Given the description of an element on the screen output the (x, y) to click on. 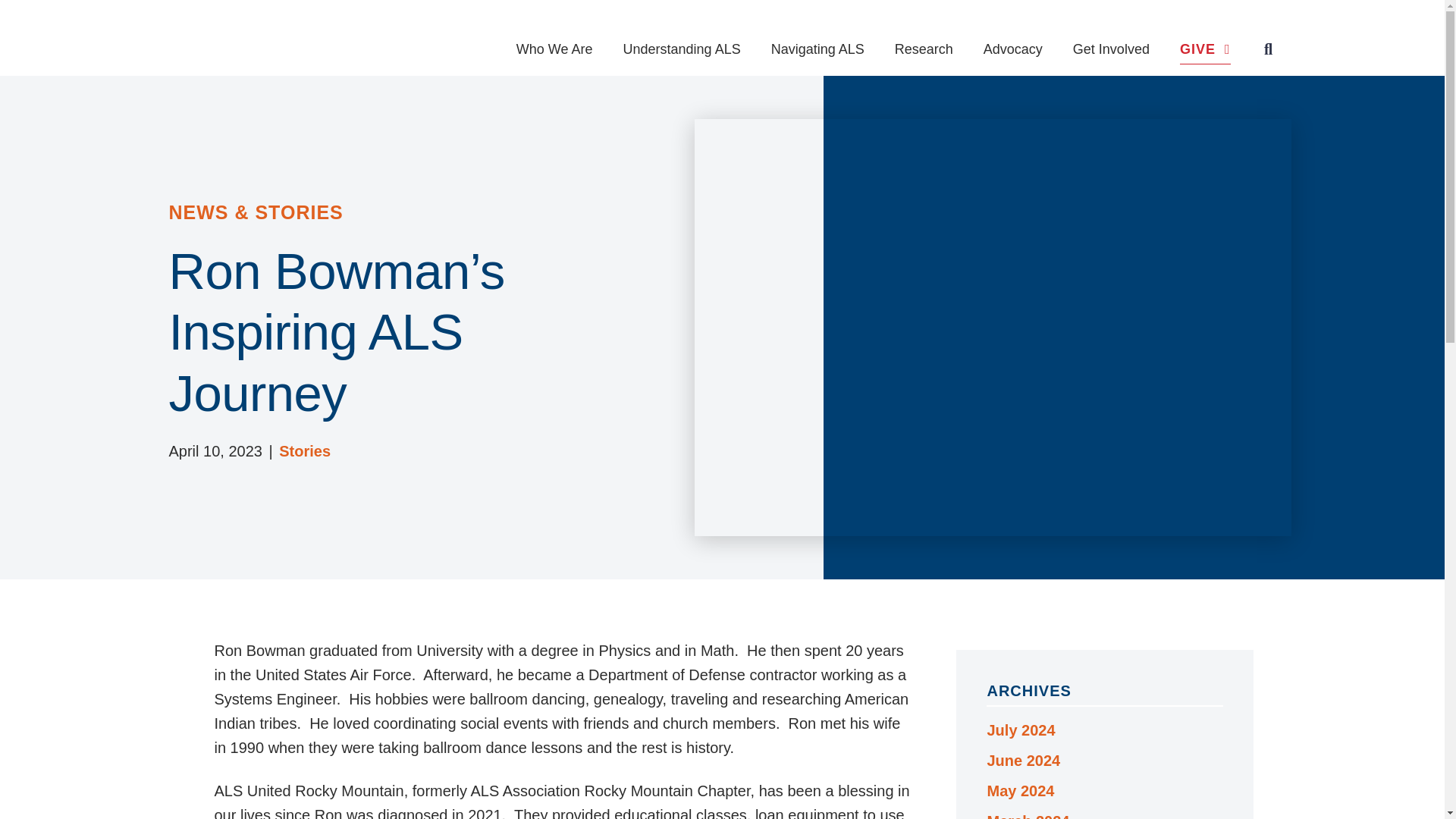
Who We Are (554, 42)
Advocacy (1013, 42)
Research (923, 42)
Understanding ALS (681, 42)
Navigating ALS (817, 42)
Get Involved (1111, 42)
